Given the description of an element on the screen output the (x, y) to click on. 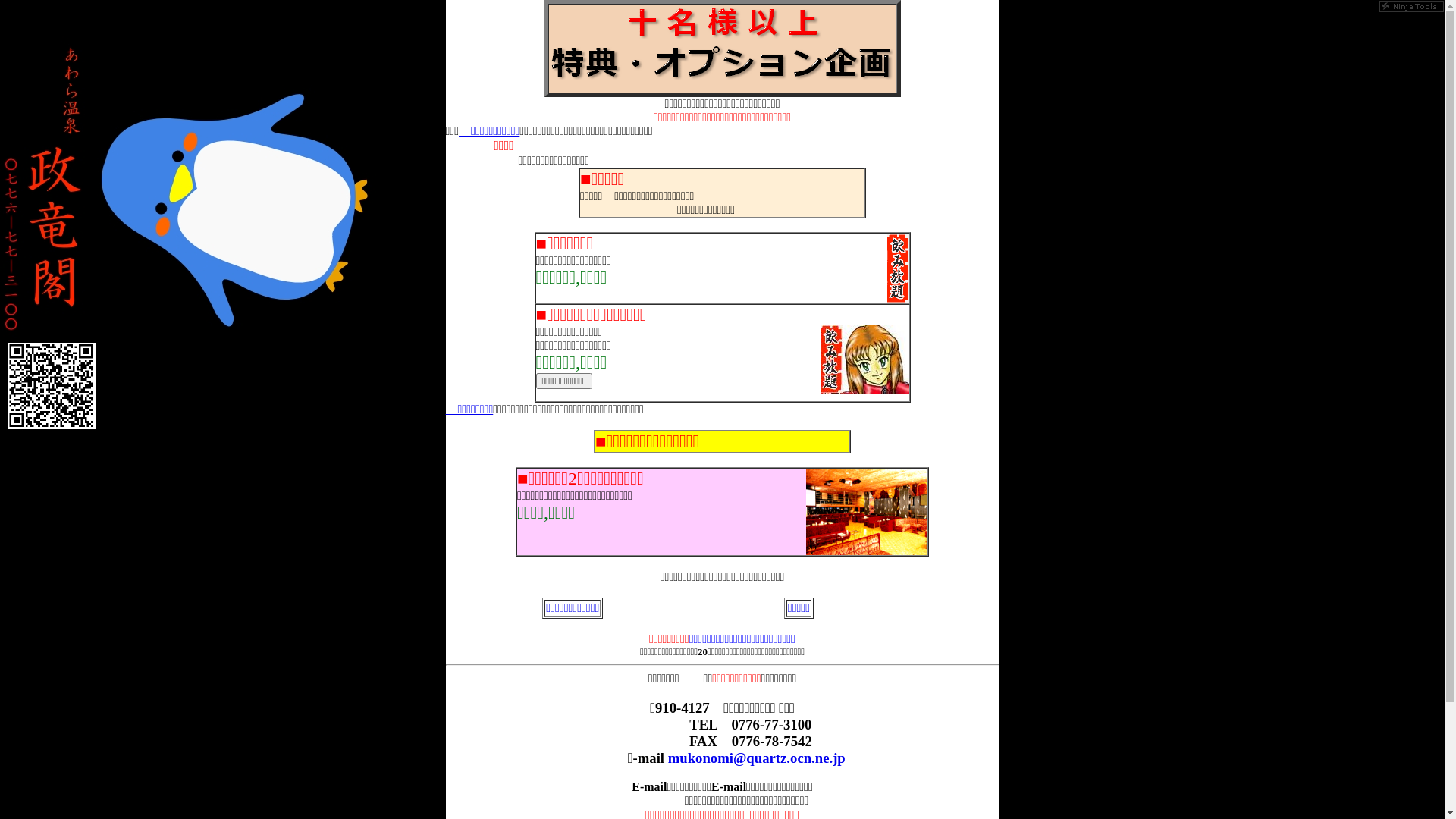
mukonomi@quartz.ocn.ne.jp Element type: text (756, 757)
